Given the description of an element on the screen output the (x, y) to click on. 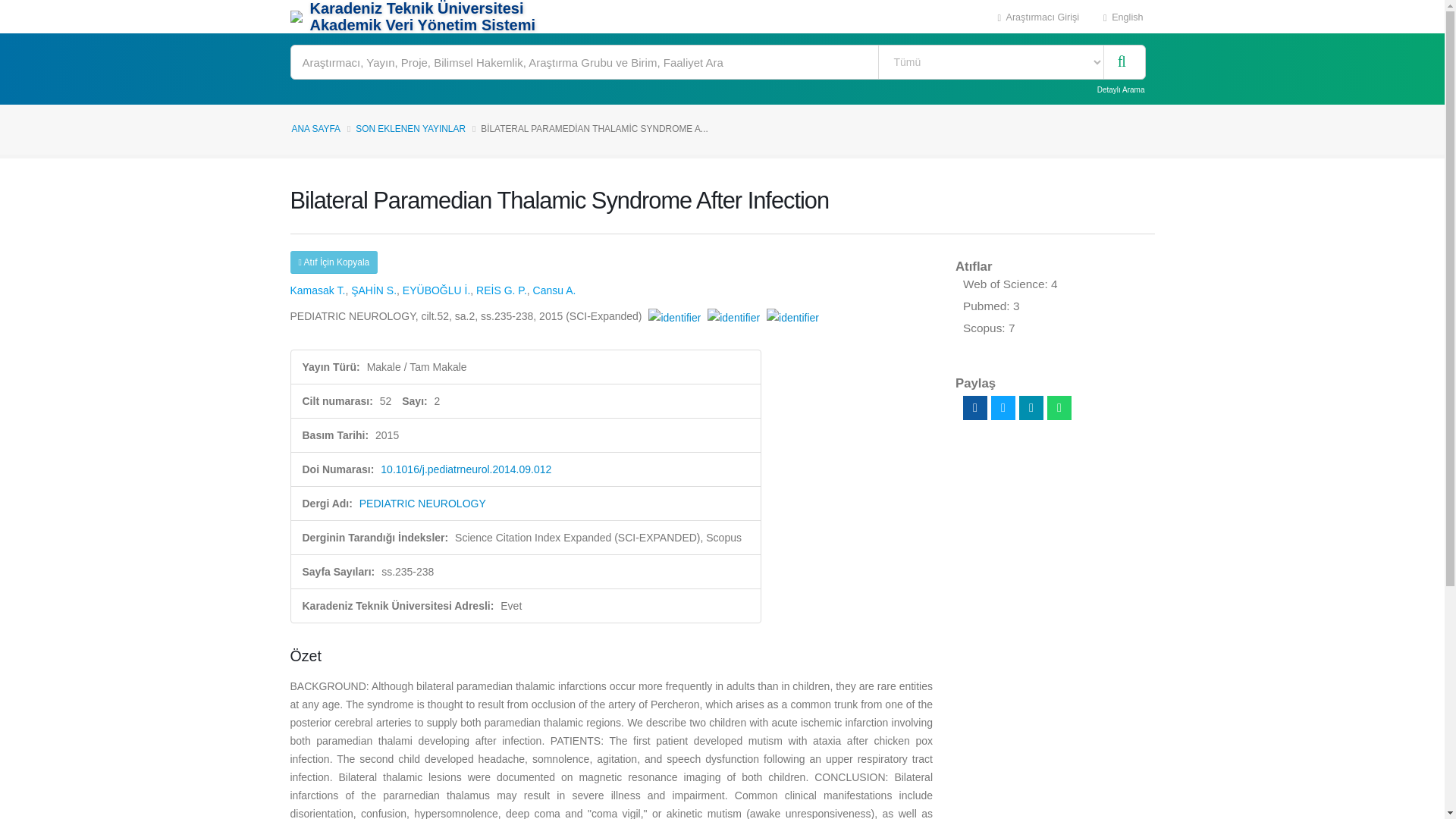
English (1123, 17)
SON EKLENEN YAYINLAR (410, 128)
PEDIATRIC NEUROLOGY (422, 503)
ANA SAYFA (315, 128)
Cansu A. (554, 290)
Kamasak T. (317, 290)
